Given the description of an element on the screen output the (x, y) to click on. 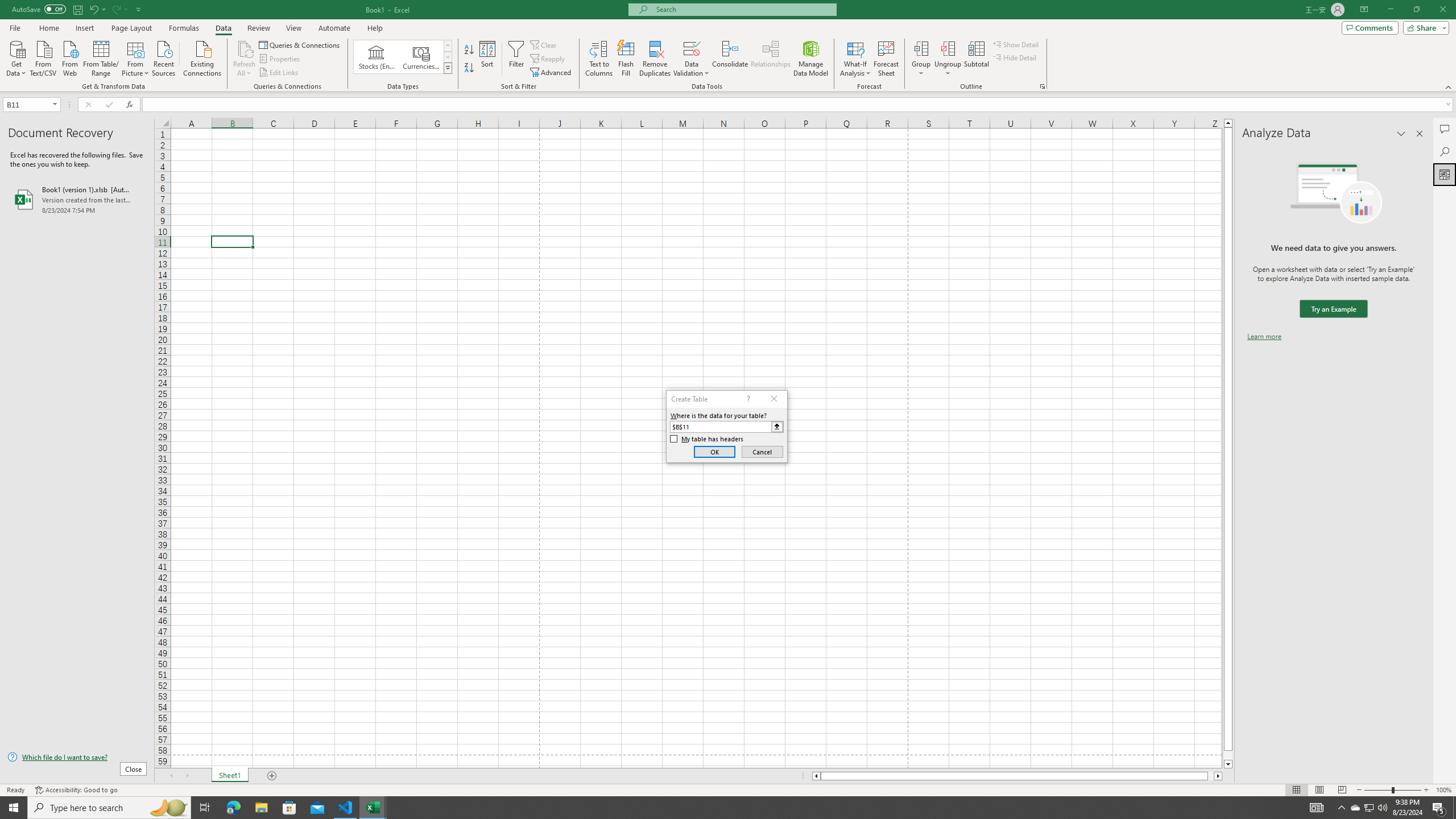
Get Data (16, 57)
Data Types (448, 67)
Flash Fill (625, 58)
Analyze Data (1444, 173)
Show Detail (1016, 44)
Sort A to Z (469, 49)
